Given the description of an element on the screen output the (x, y) to click on. 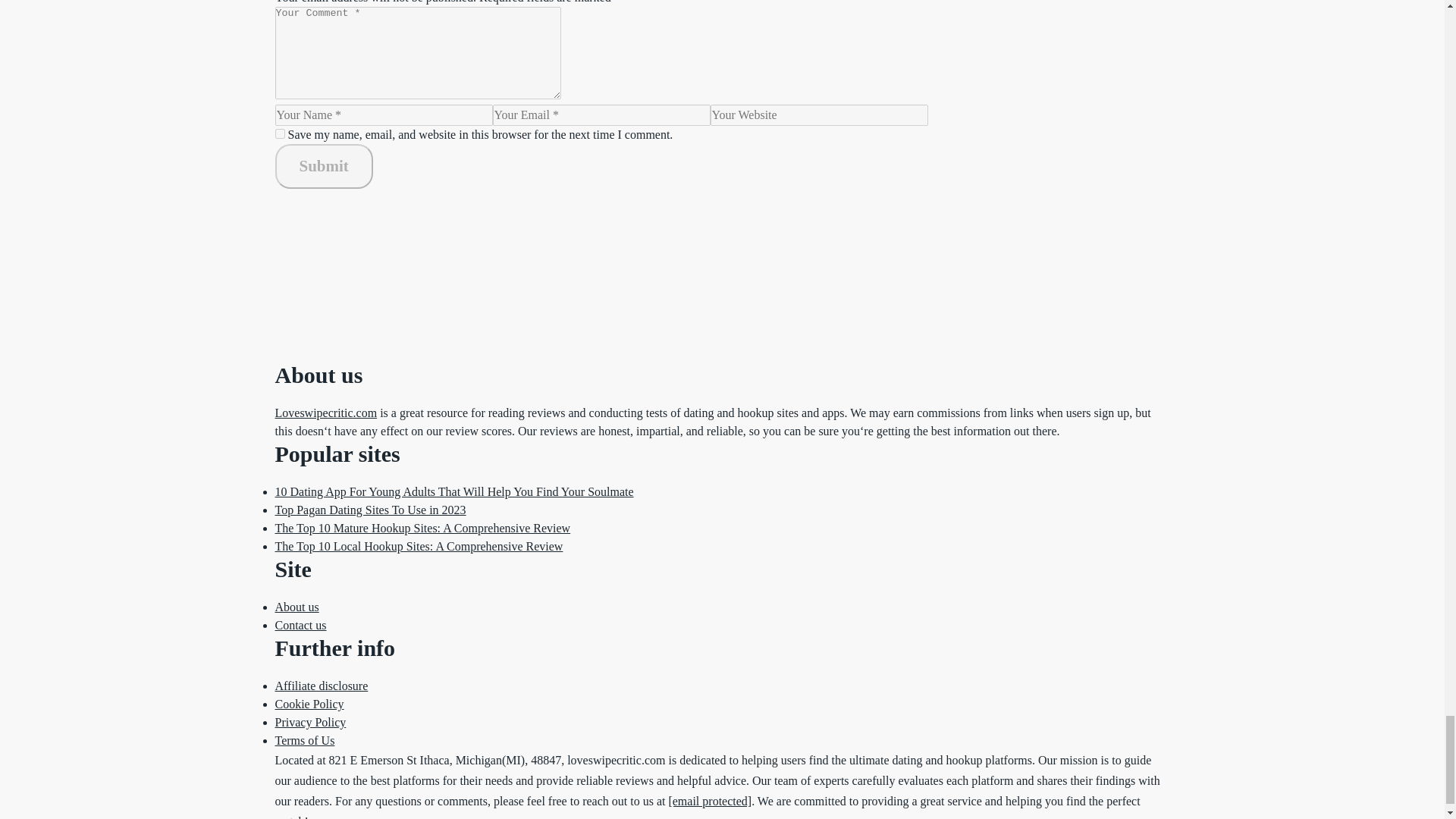
Submit (323, 166)
yes (279, 133)
